Given the description of an element on the screen output the (x, y) to click on. 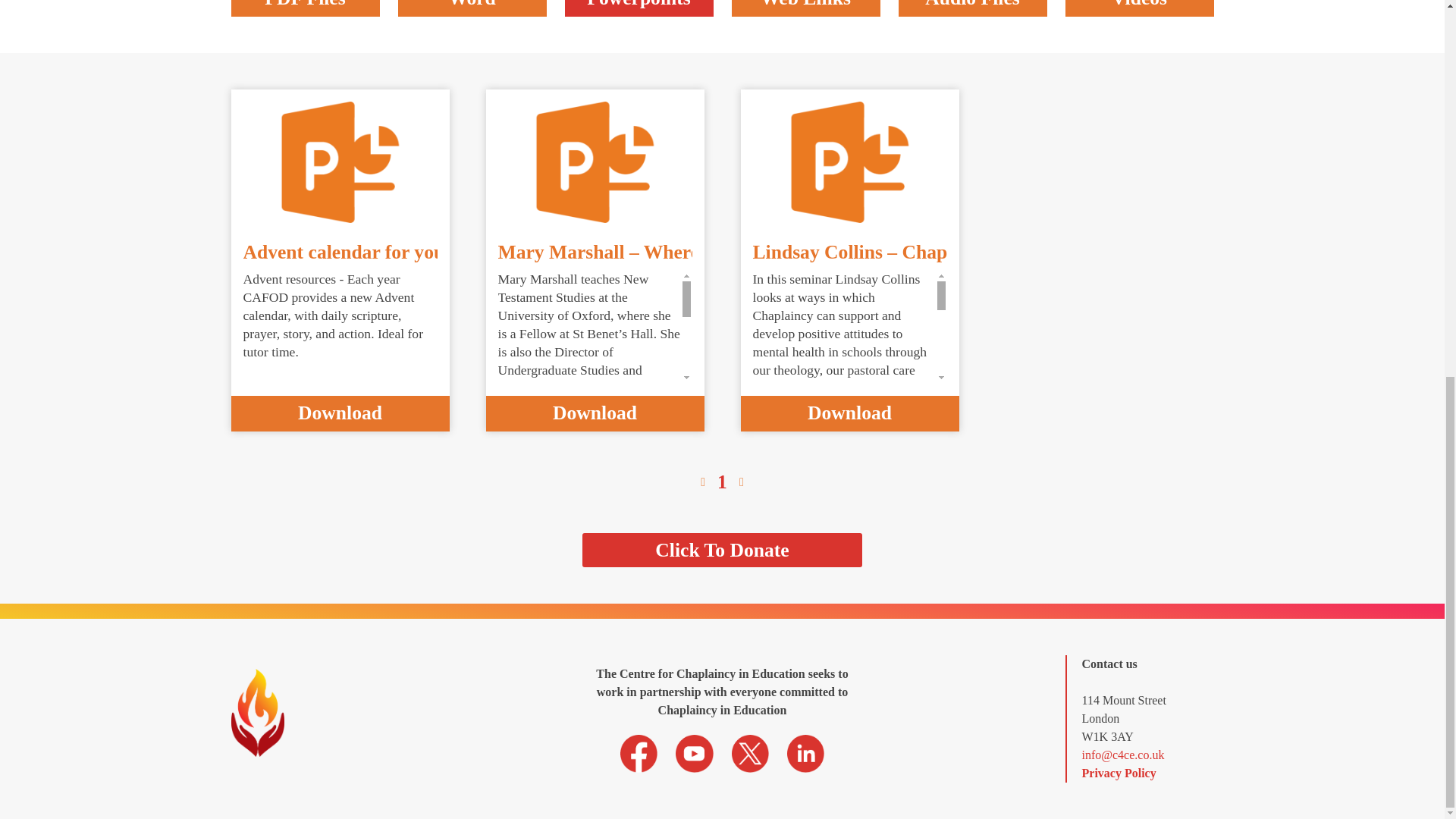
1 (721, 481)
Powerpoints (638, 8)
Audio Files (972, 8)
Privacy Policy (1118, 772)
PDF Files (304, 8)
Videos (1138, 8)
Click To Donate (721, 550)
Word (471, 8)
Web Links (804, 8)
